Given the description of an element on the screen output the (x, y) to click on. 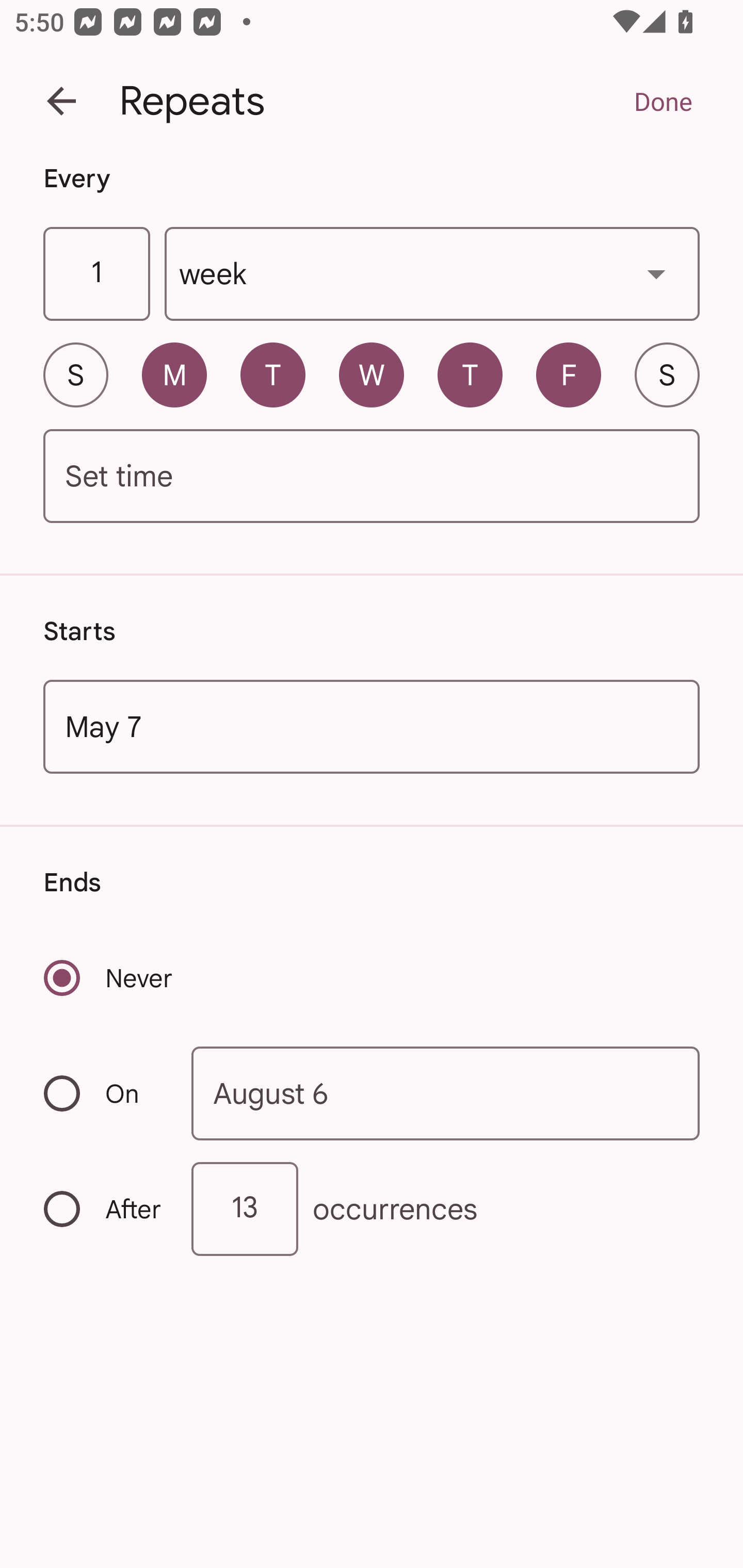
Back (61, 101)
Done (663, 101)
1 (96, 274)
week (431, 274)
Show dropdown menu (655, 273)
S Sunday (75, 374)
M Monday, selected (173, 374)
T Tuesday, selected (272, 374)
W Wednesday, selected (371, 374)
T Thursday, selected (469, 374)
F Friday, selected (568, 374)
S Saturday (666, 374)
Set time (371, 476)
May 7 (371, 726)
Never Recurrence never ends (109, 978)
August 6 (445, 1092)
On Recurrence ends on a specific date (104, 1093)
13 (244, 1208)
